Given the description of an element on the screen output the (x, y) to click on. 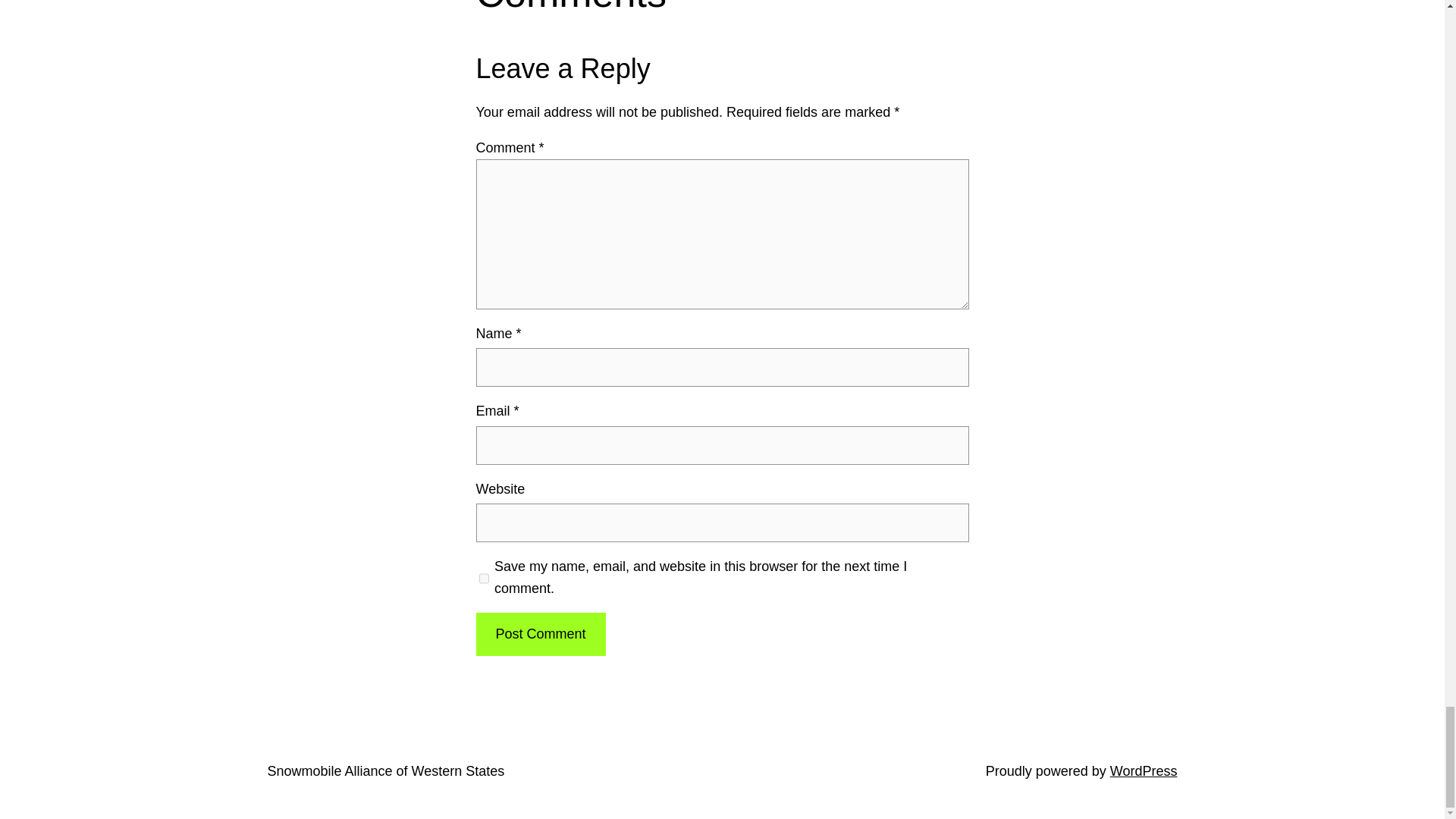
WordPress (1143, 770)
Post Comment (540, 634)
Snowmobile Alliance of Western States (384, 770)
Post Comment (540, 634)
